Given the description of an element on the screen output the (x, y) to click on. 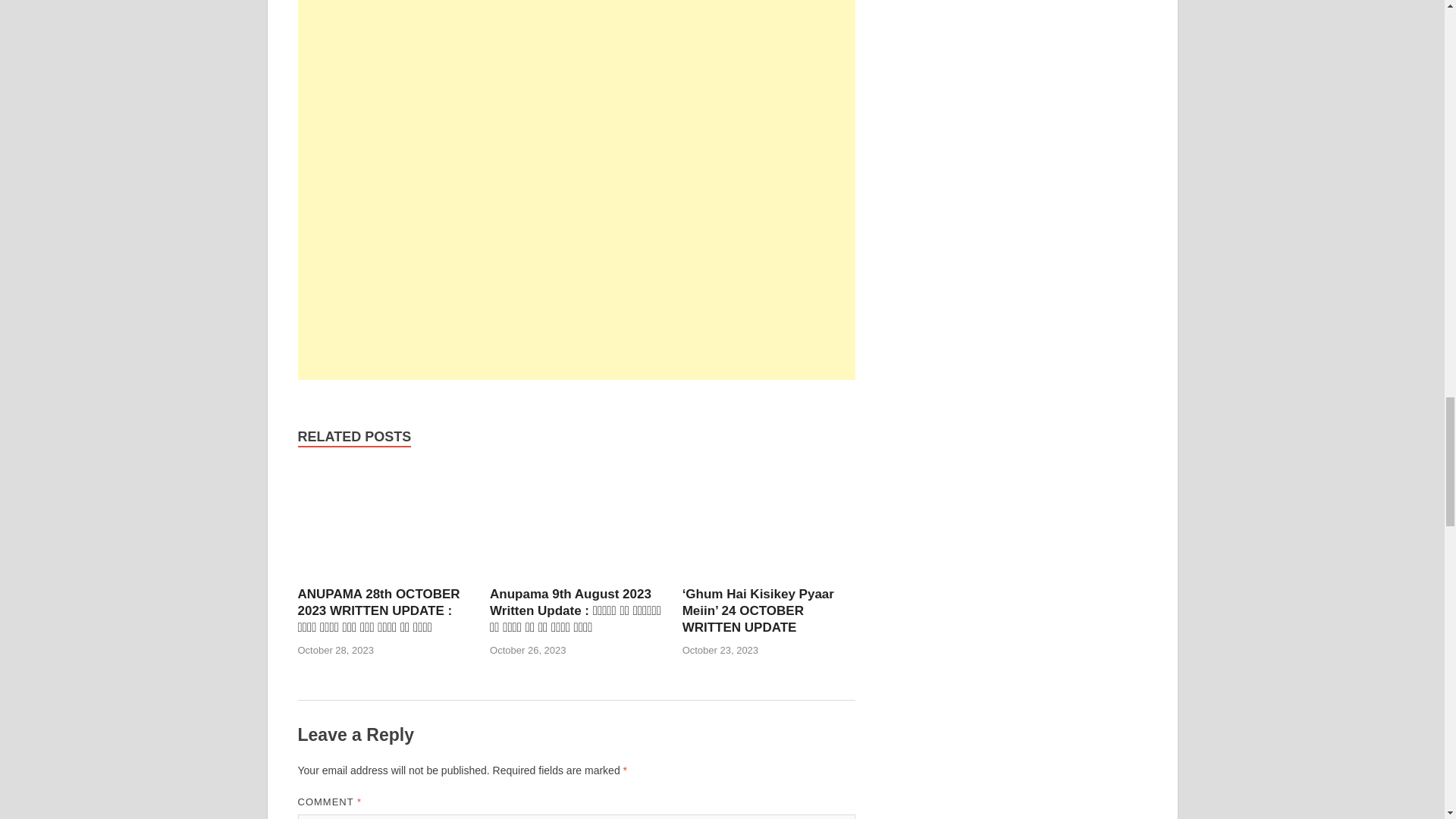
Advertisement (575, 273)
Advertisement (575, 83)
